Given the description of an element on the screen output the (x, y) to click on. 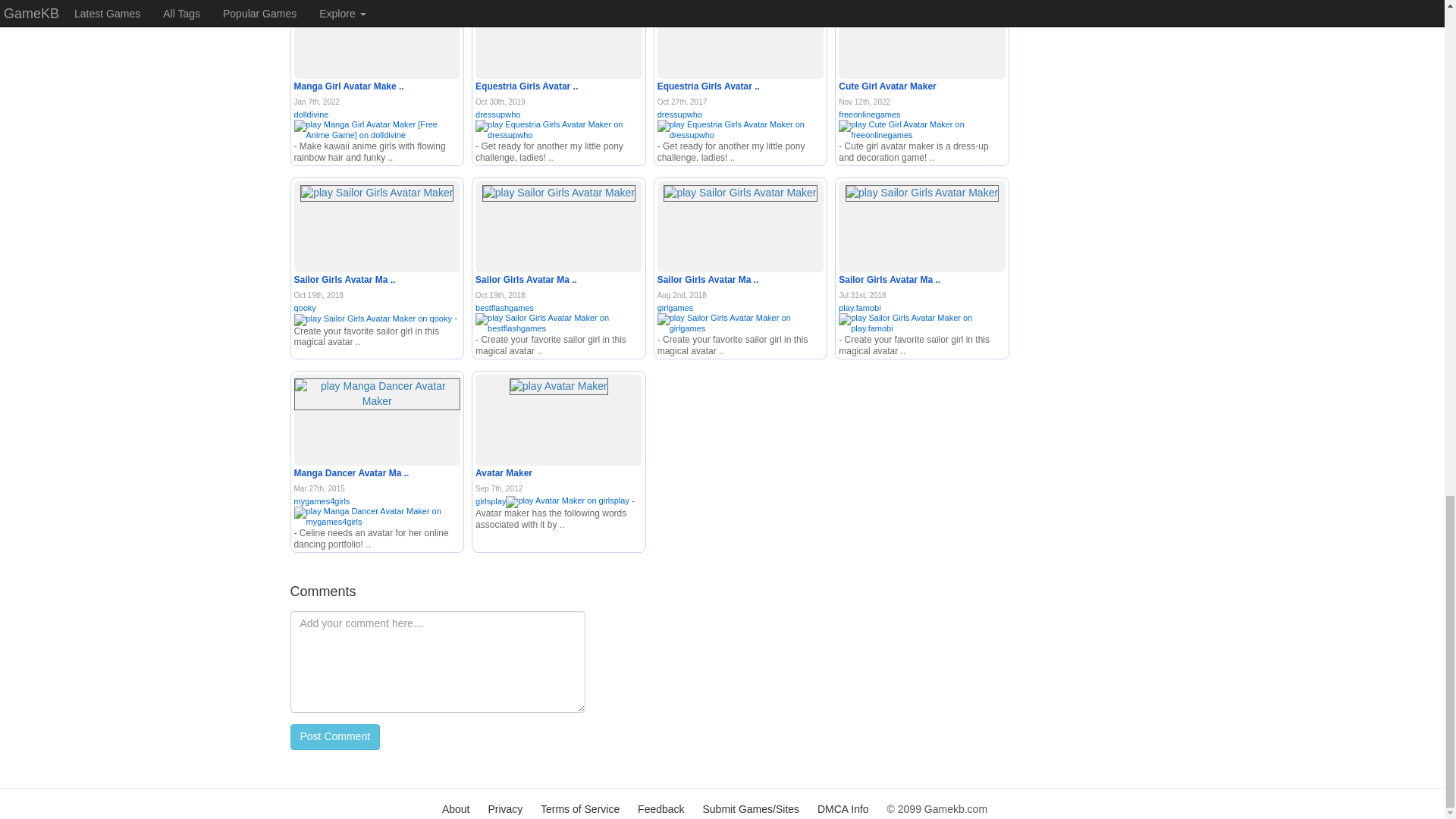
Post Comment (334, 736)
